Given the description of an element on the screen output the (x, y) to click on. 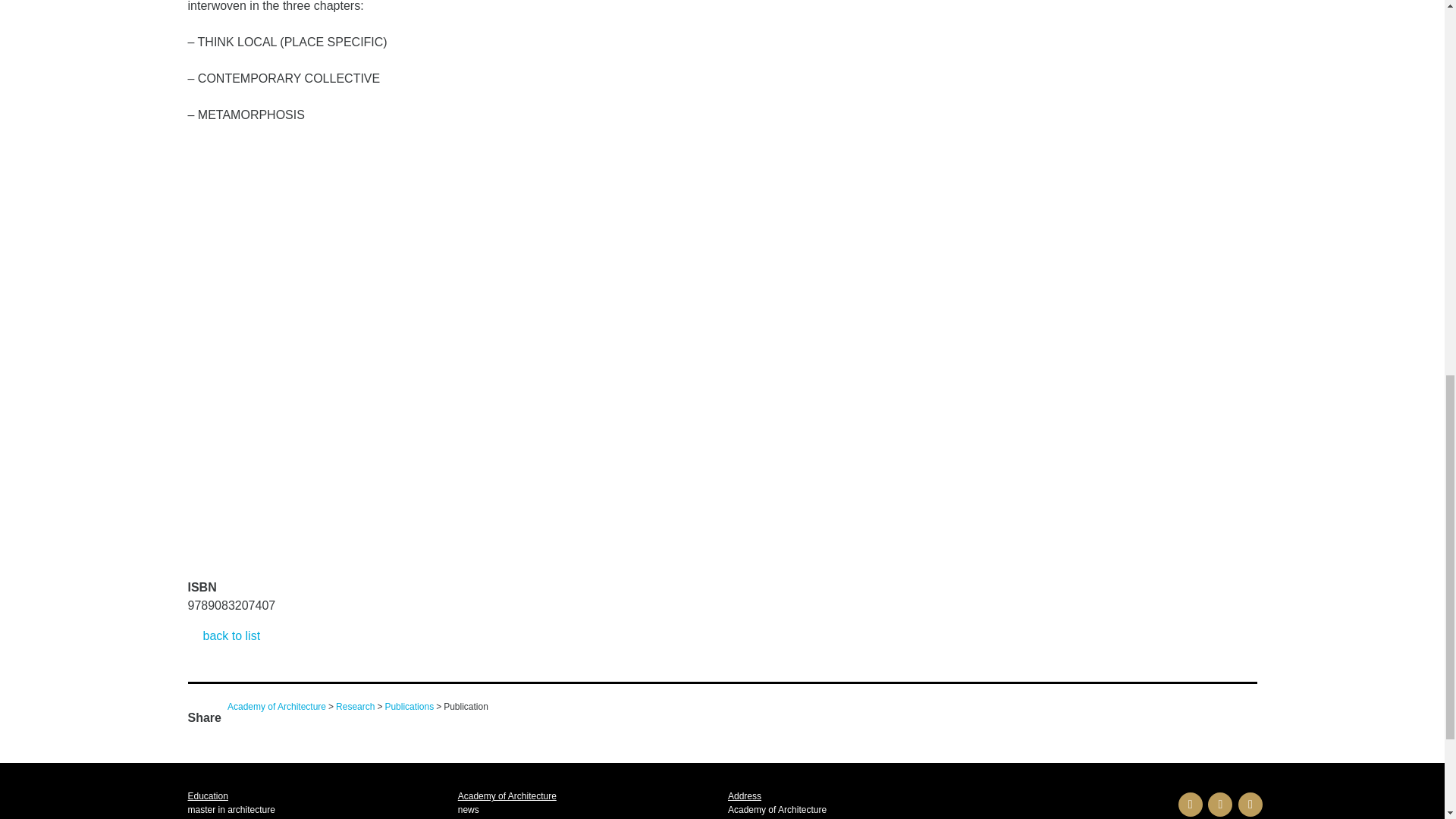
Academy of Architecture (276, 706)
Research (355, 706)
Publications (408, 706)
